Given the description of an element on the screen output the (x, y) to click on. 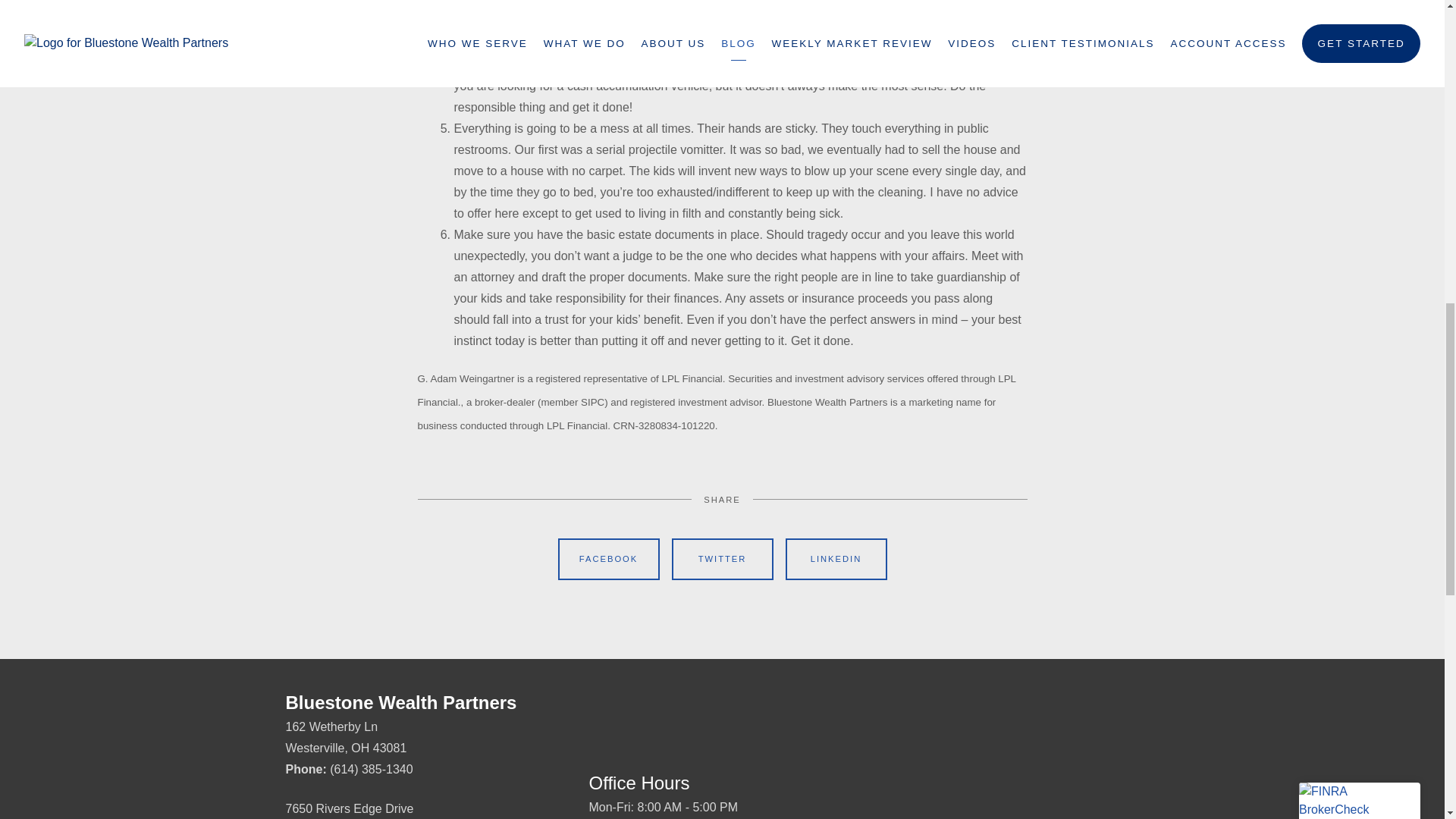
FACEBOOK (608, 559)
TWITTER (722, 559)
LINKEDIN (836, 559)
